Given the description of an element on the screen output the (x, y) to click on. 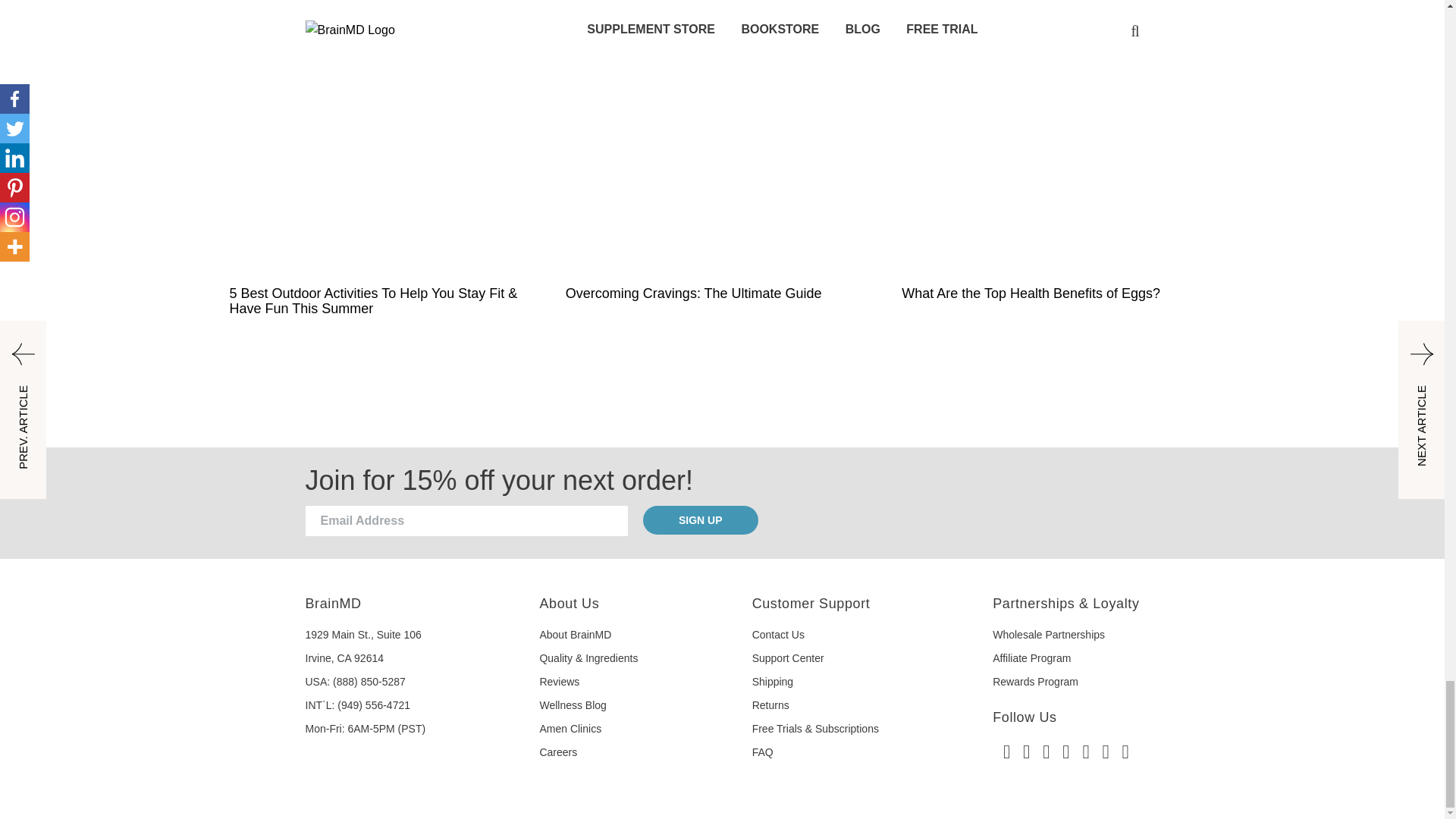
Sign Up (700, 520)
